Given the description of an element on the screen output the (x, y) to click on. 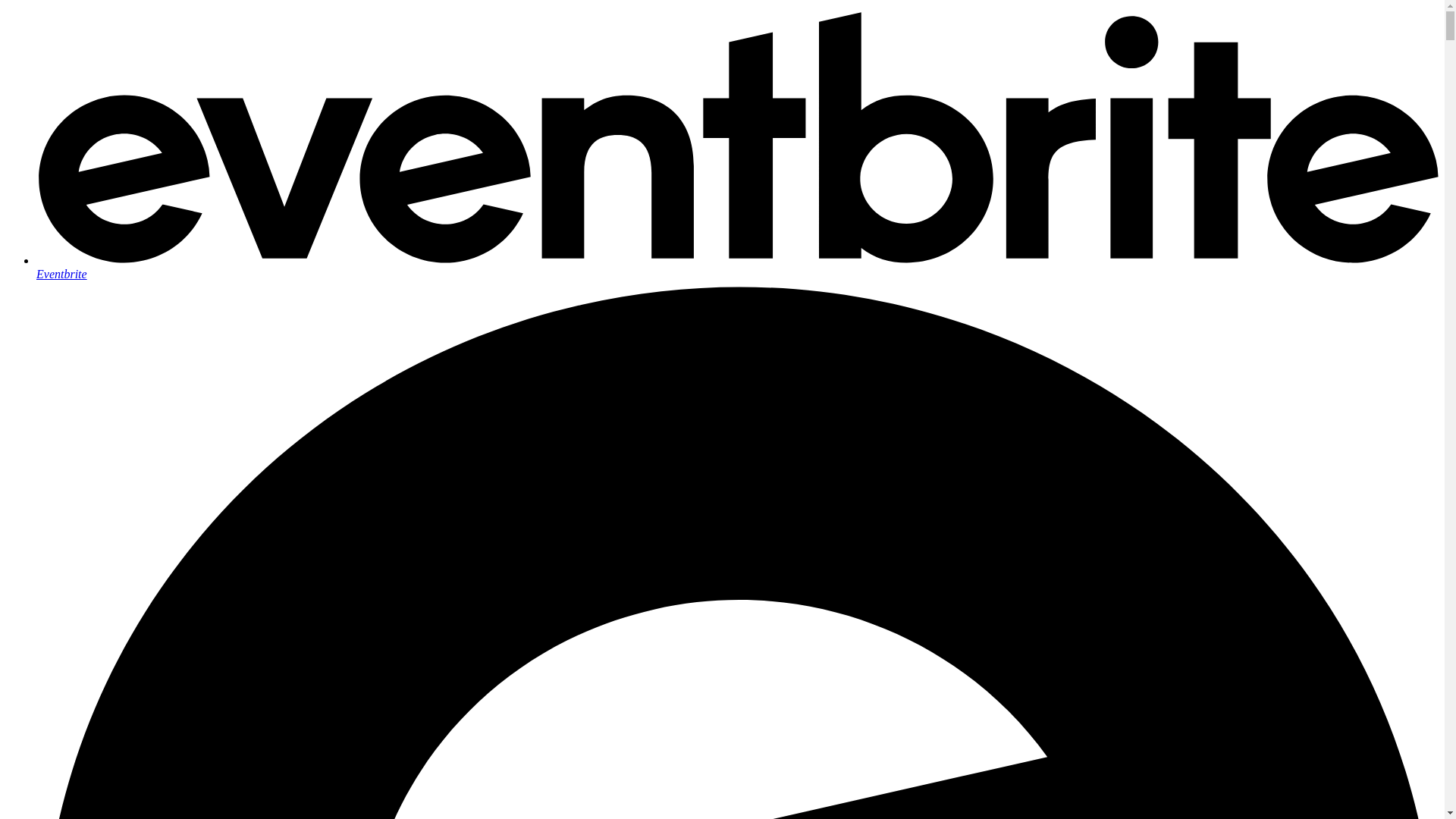
Eventbrite Element type: text (737, 267)
